Given the description of an element on the screen output the (x, y) to click on. 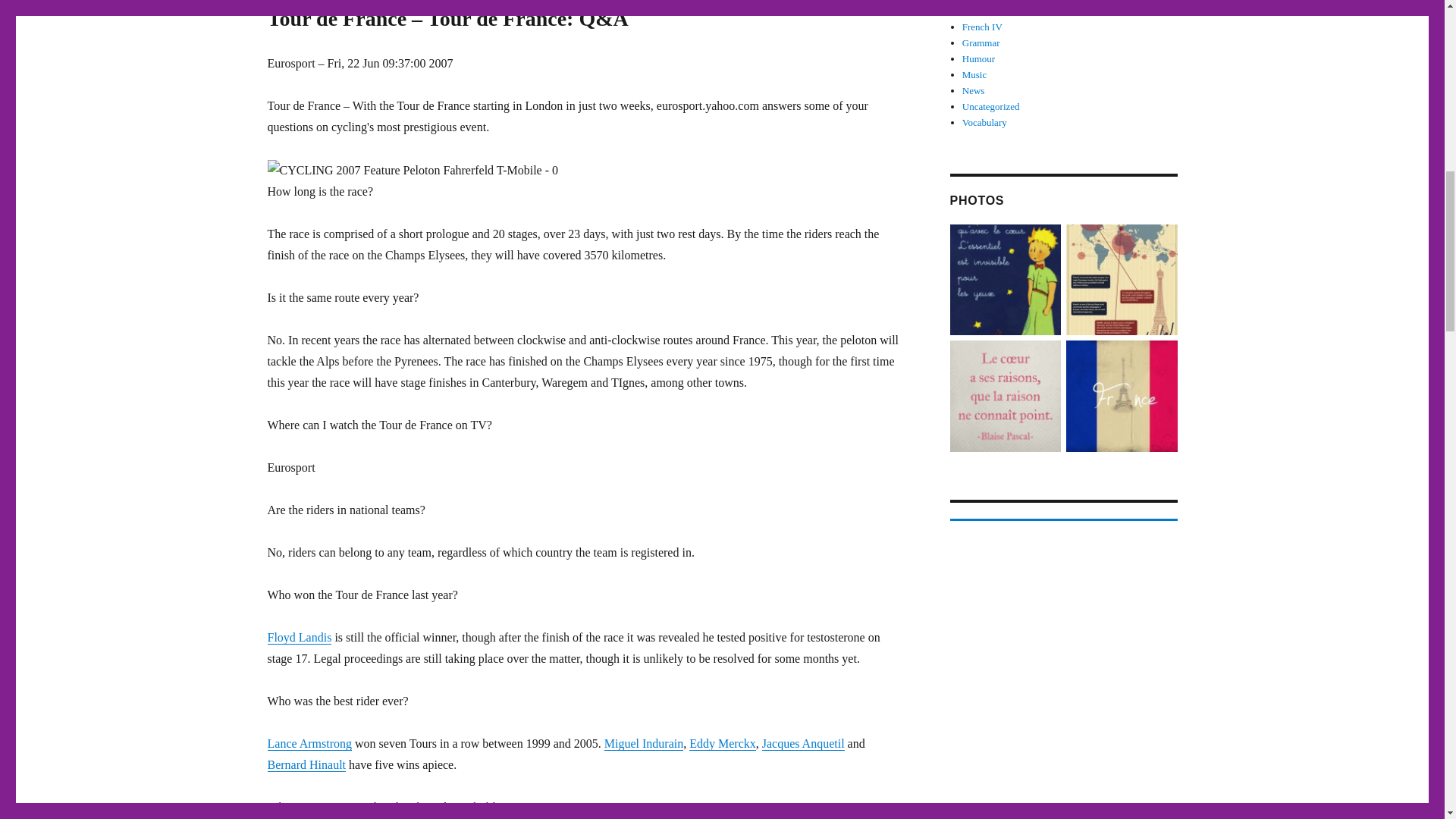
Jacques Anquetil (802, 743)
Floyd Landis (298, 636)
Bernard Hinault (306, 764)
Miguel Indurain (643, 743)
Eddy Merckx (721, 743)
Lance Armstrong (309, 743)
